Given the description of an element on the screen output the (x, y) to click on. 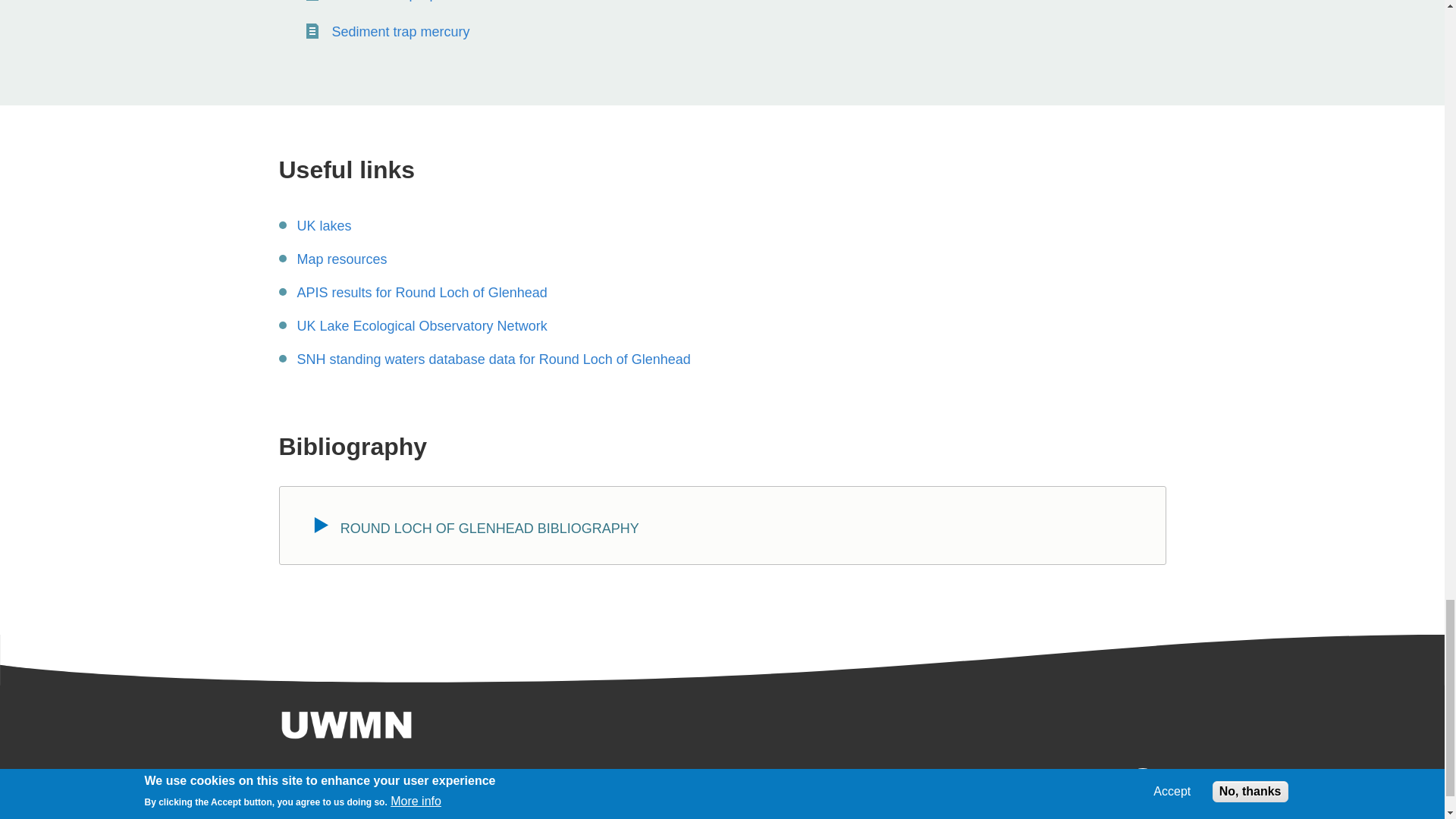
Round Loch of Glenhead (324, 227)
uwmn-lake-traps-mercury.pdf (400, 33)
Map resources (342, 260)
uwmn-lake-traps-SCP.pdf (482, 2)
